Given the description of an element on the screen output the (x, y) to click on. 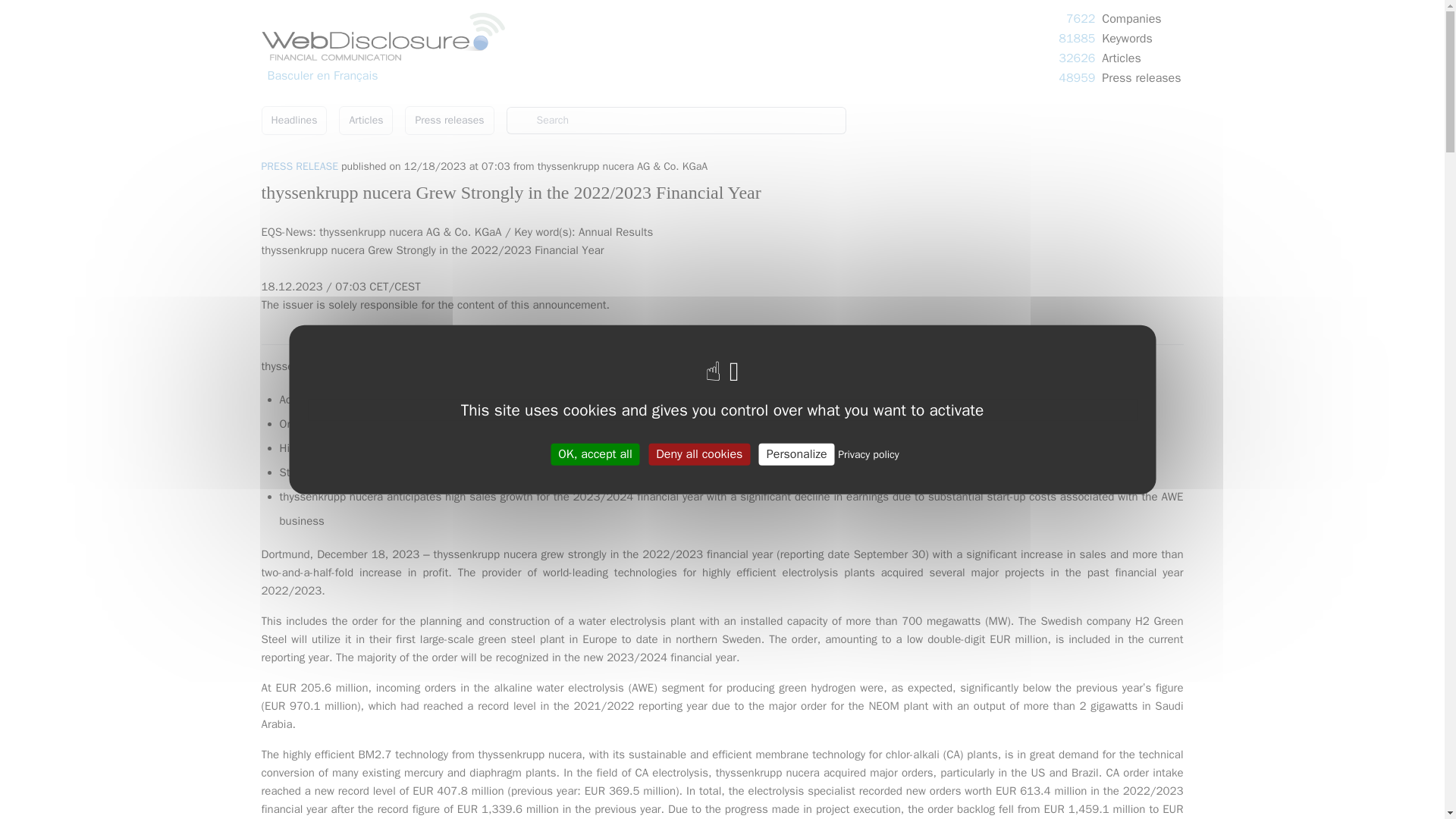
Keywords (1126, 38)
Articles (366, 120)
81885 (1076, 38)
32626 (1076, 58)
48959 (1076, 77)
Press releases (1141, 77)
Headlines (293, 120)
Articles (1121, 58)
Press releases (448, 120)
7622 (1079, 18)
Companies (1131, 18)
